Given the description of an element on the screen output the (x, y) to click on. 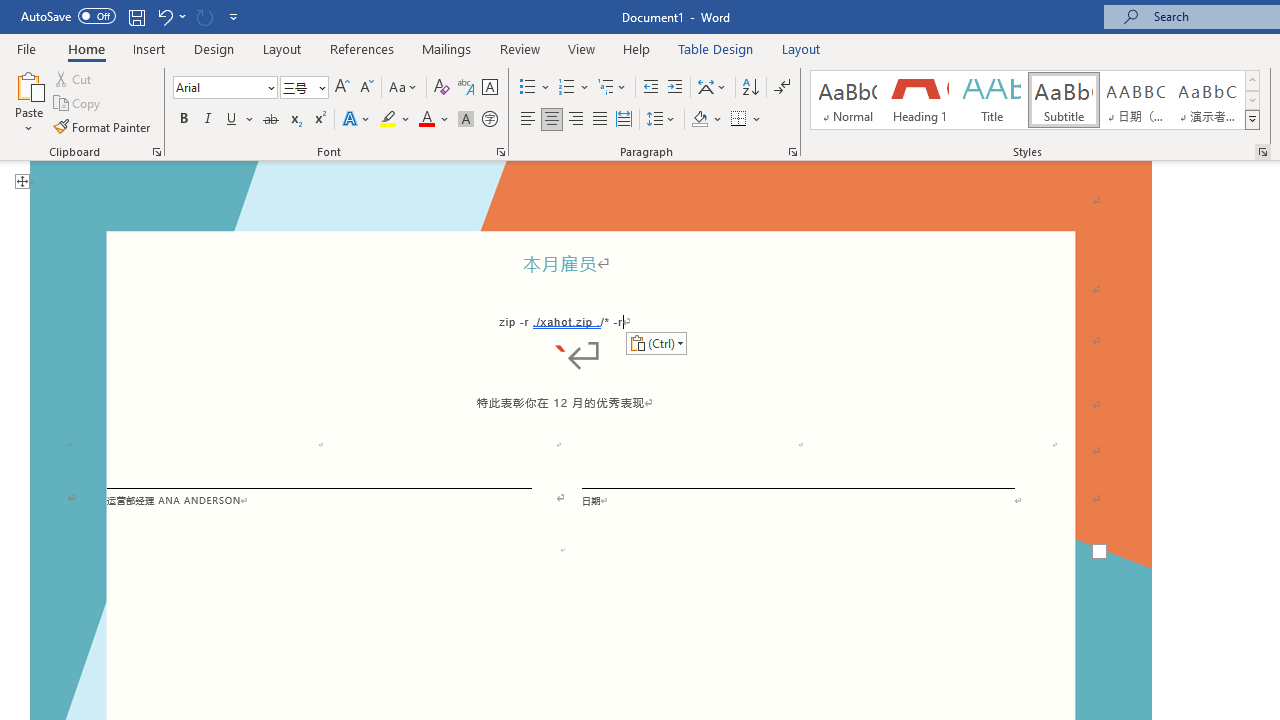
Action: Paste alternatives (656, 342)
Undo Paste (164, 15)
